Given the description of an element on the screen output the (x, y) to click on. 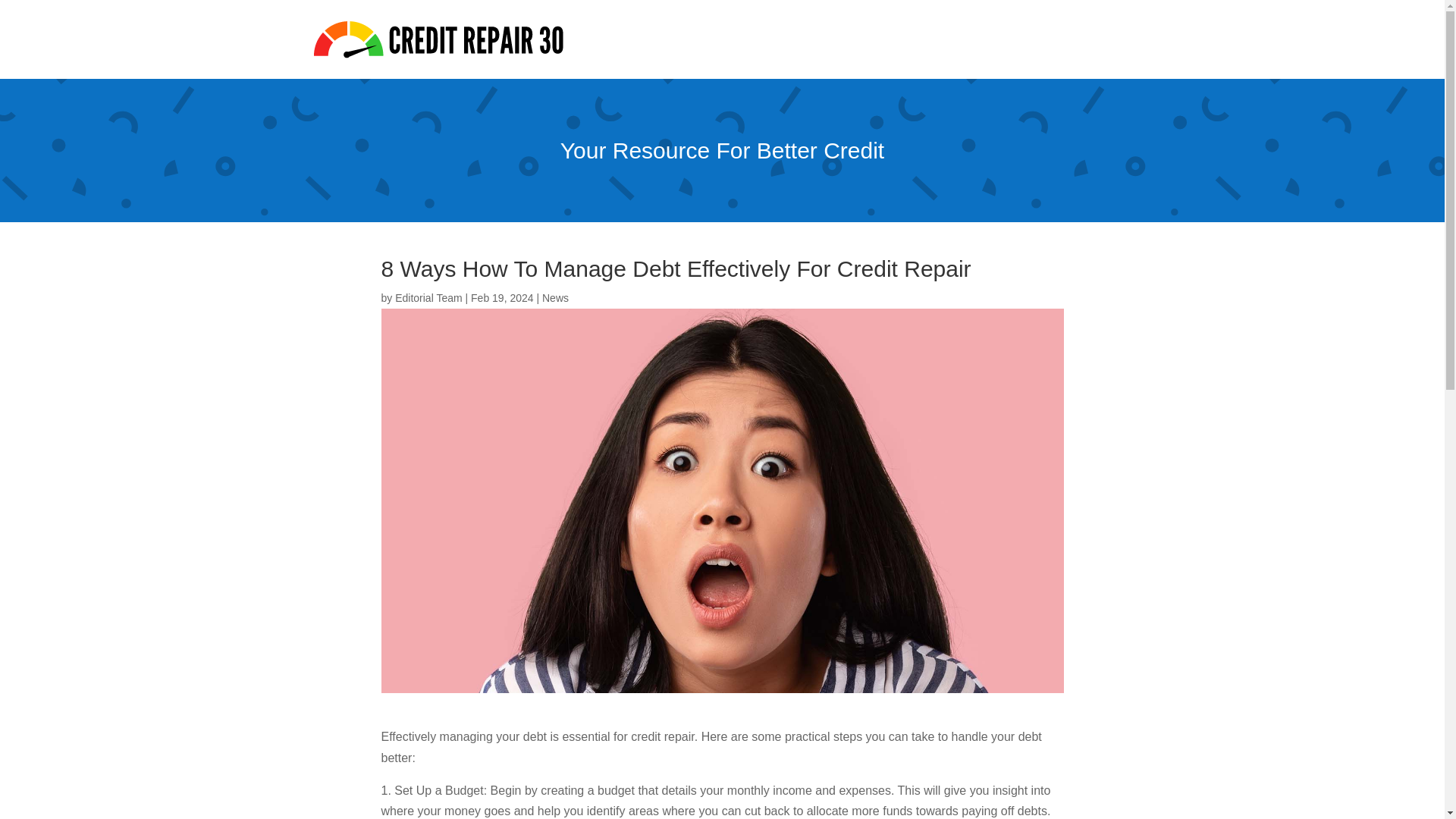
News (555, 297)
Posts by Editorial Team (427, 297)
Editorial Team (427, 297)
